Given the description of an element on the screen output the (x, y) to click on. 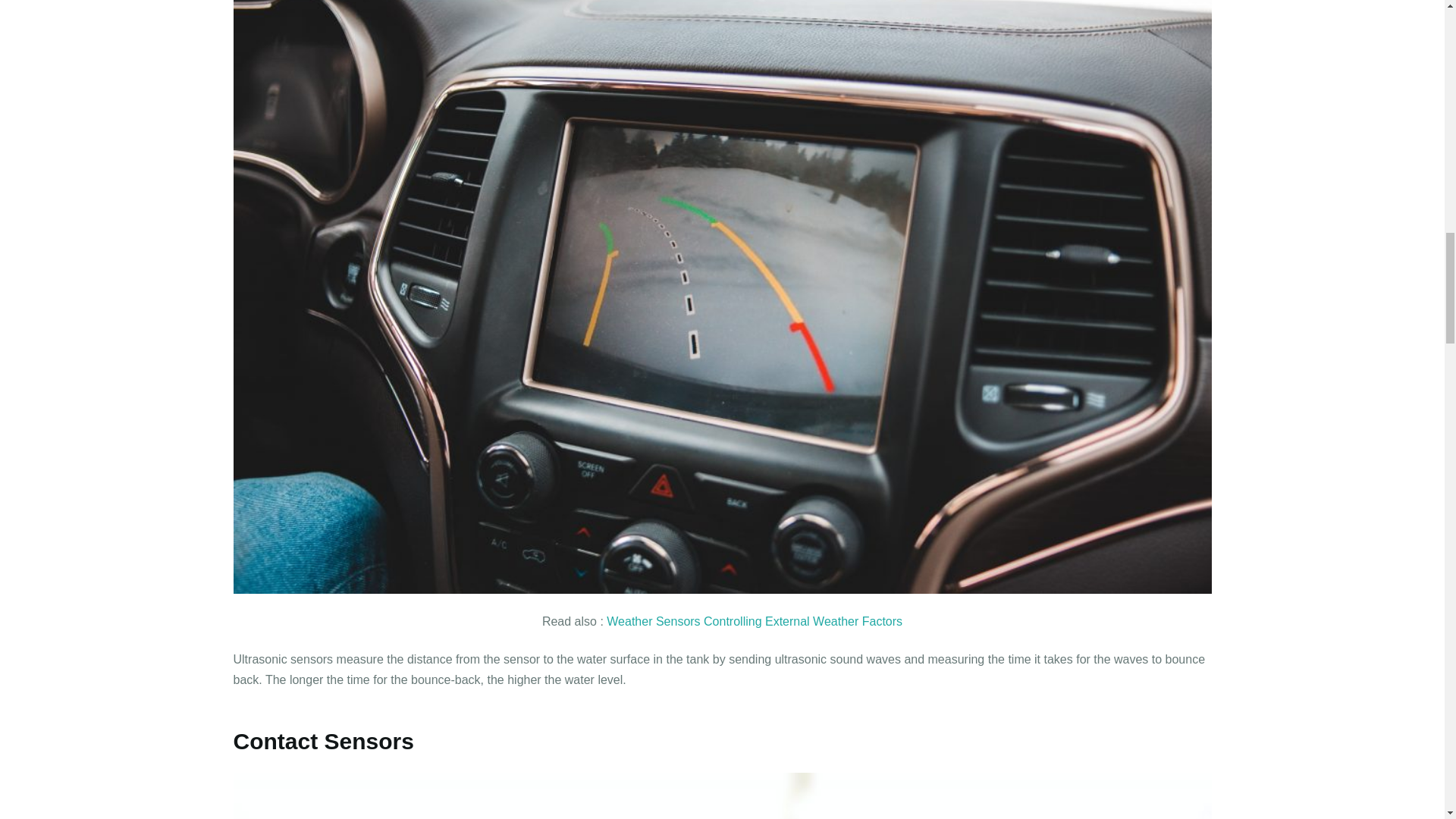
Weather Sensors Controlling External Weather Factors (754, 621)
